Given the description of an element on the screen output the (x, y) to click on. 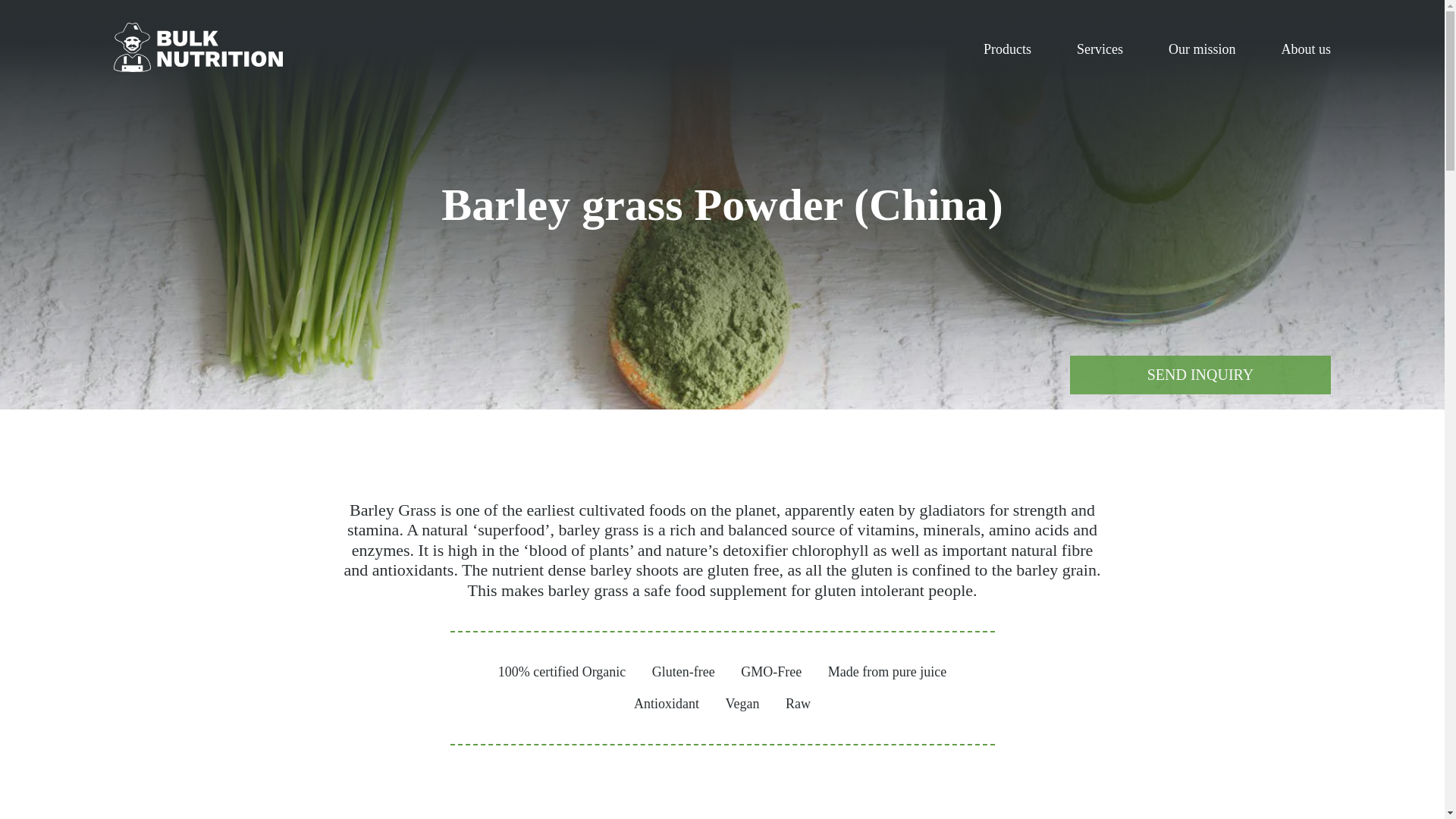
About us (1305, 48)
Products (1007, 48)
SEND INQUIRY (1200, 374)
Services (1099, 48)
Our mission (1202, 48)
